Given the description of an element on the screen output the (x, y) to click on. 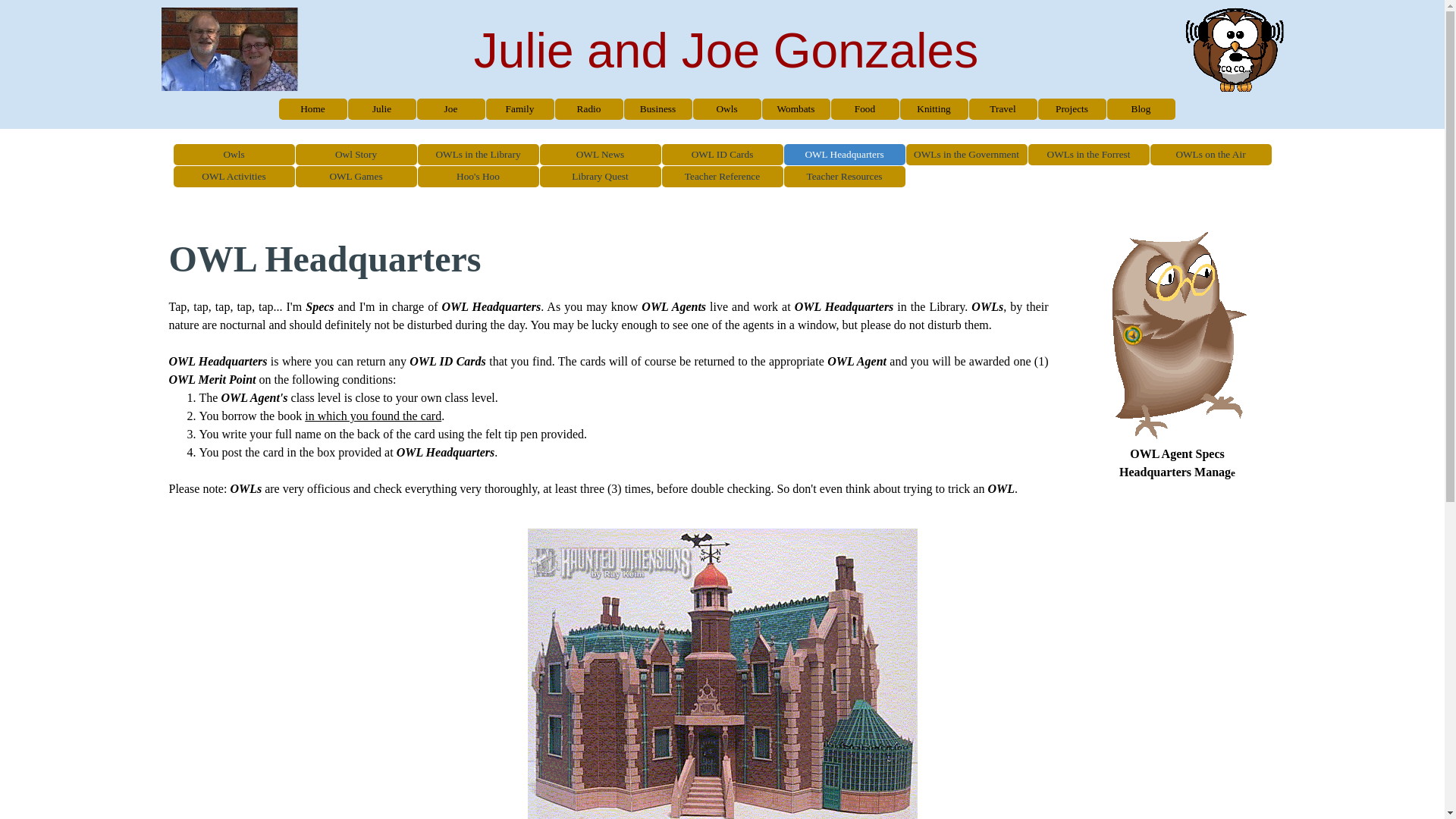
OWL Games Element type: text (355, 176)
OWL Headquarters Element type: text (843, 154)
Blog Element type: text (1140, 108)
Family Element type: text (519, 108)
OWLs in the Forrest Element type: text (1088, 154)
Teacher Resources Element type: text (843, 176)
OWLs in the Library Element type: text (478, 154)
Teacher Reference Element type: text (722, 176)
Wombats Element type: text (795, 108)
Owls Element type: text (726, 108)
OWL News Element type: text (599, 154)
OWLs in the Government Element type: text (966, 154)
Projects Element type: text (1071, 108)
Business Element type: text (657, 108)
Home Element type: text (312, 108)
Hoo's Hoo Element type: text (478, 176)
Library Quest Element type: text (599, 176)
Julie Element type: text (381, 108)
Owls Element type: text (234, 154)
Owl Story Element type: text (355, 154)
OWL ID Cards Element type: text (722, 154)
OWL Activities Element type: text (234, 176)
Joe Element type: text (450, 108)
Knitting Element type: text (933, 108)
OWLs on the Air Element type: text (1210, 154)
Food Element type: text (864, 108)
Travel Element type: text (1002, 108)
Radio Element type: text (588, 108)
